Given the description of an element on the screen output the (x, y) to click on. 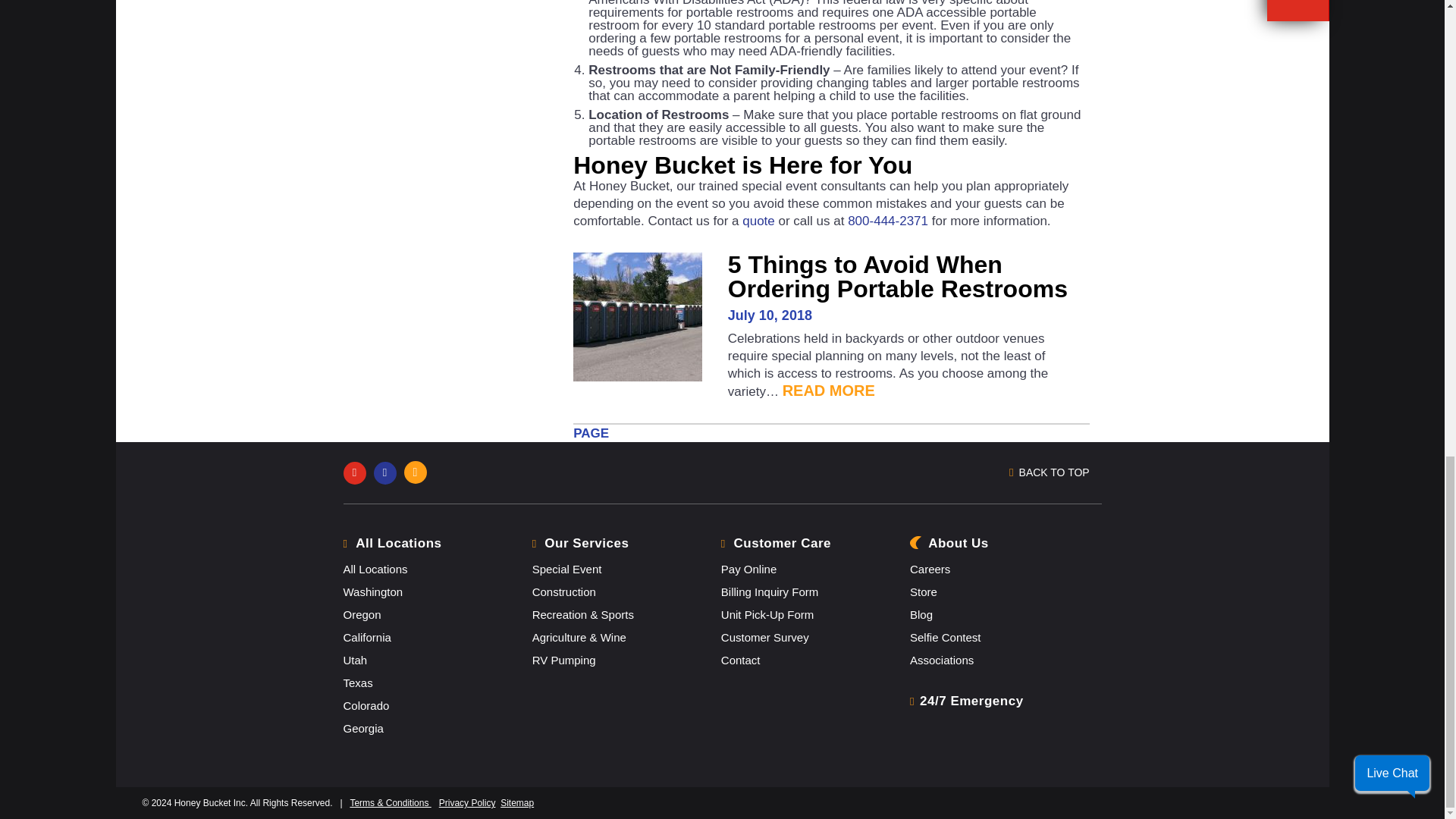
Instagram (418, 472)
Twitter (387, 472)
BACK TO TOP (903, 472)
Facebook (357, 472)
BACK TO TOP (1054, 472)
